Given the description of an element on the screen output the (x, y) to click on. 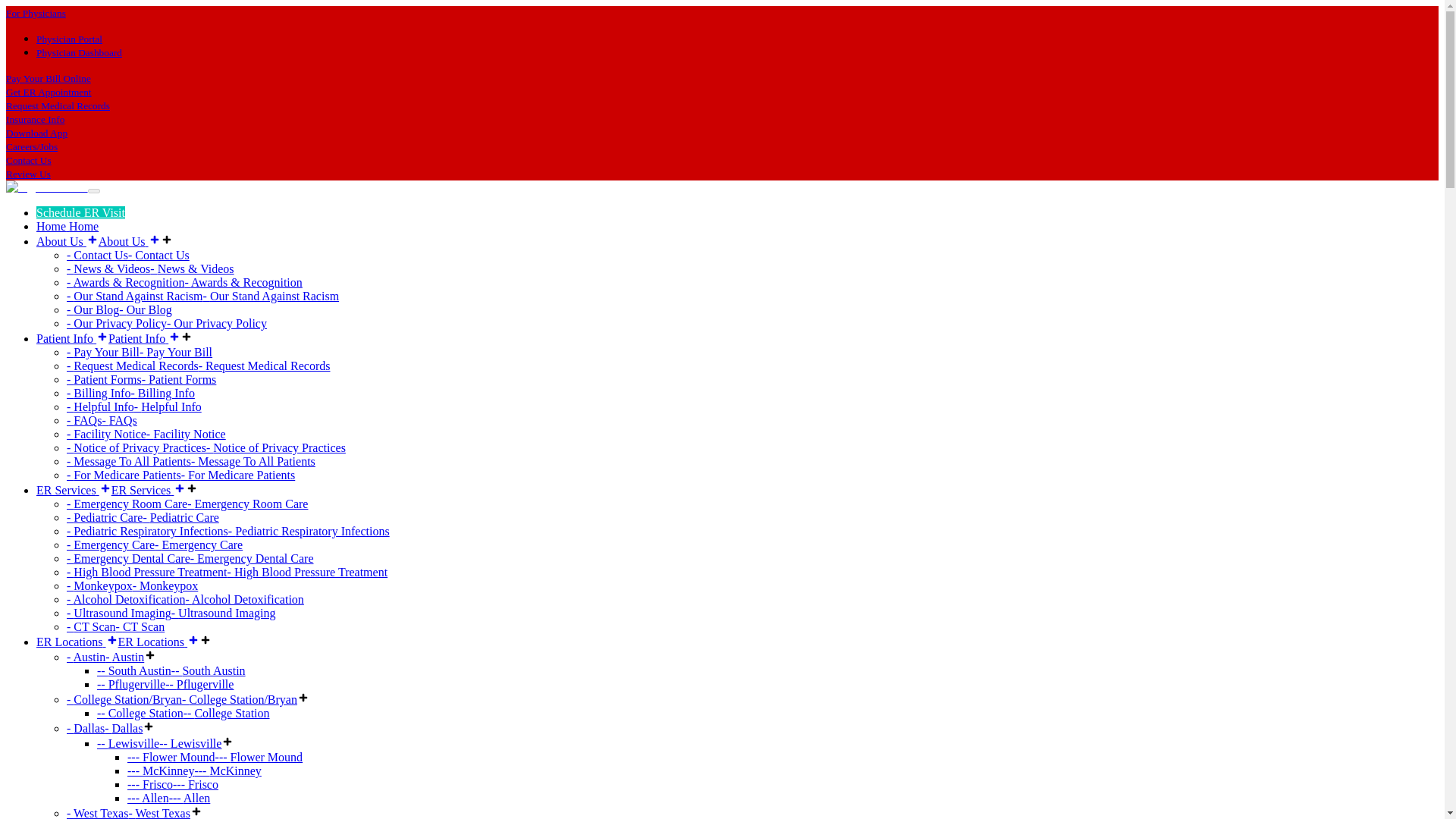
Contact Us (27, 159)
- Pay Your Bill (175, 351)
- Request Medical Records (264, 365)
Patient Info (71, 338)
- Contact Us (97, 254)
Physician Dashboard (79, 51)
- Our Privacy Policy (116, 323)
- Request Medical Records (132, 365)
- Contact Us (158, 254)
Pay Your Bill Online (47, 77)
